Given the description of an element on the screen output the (x, y) to click on. 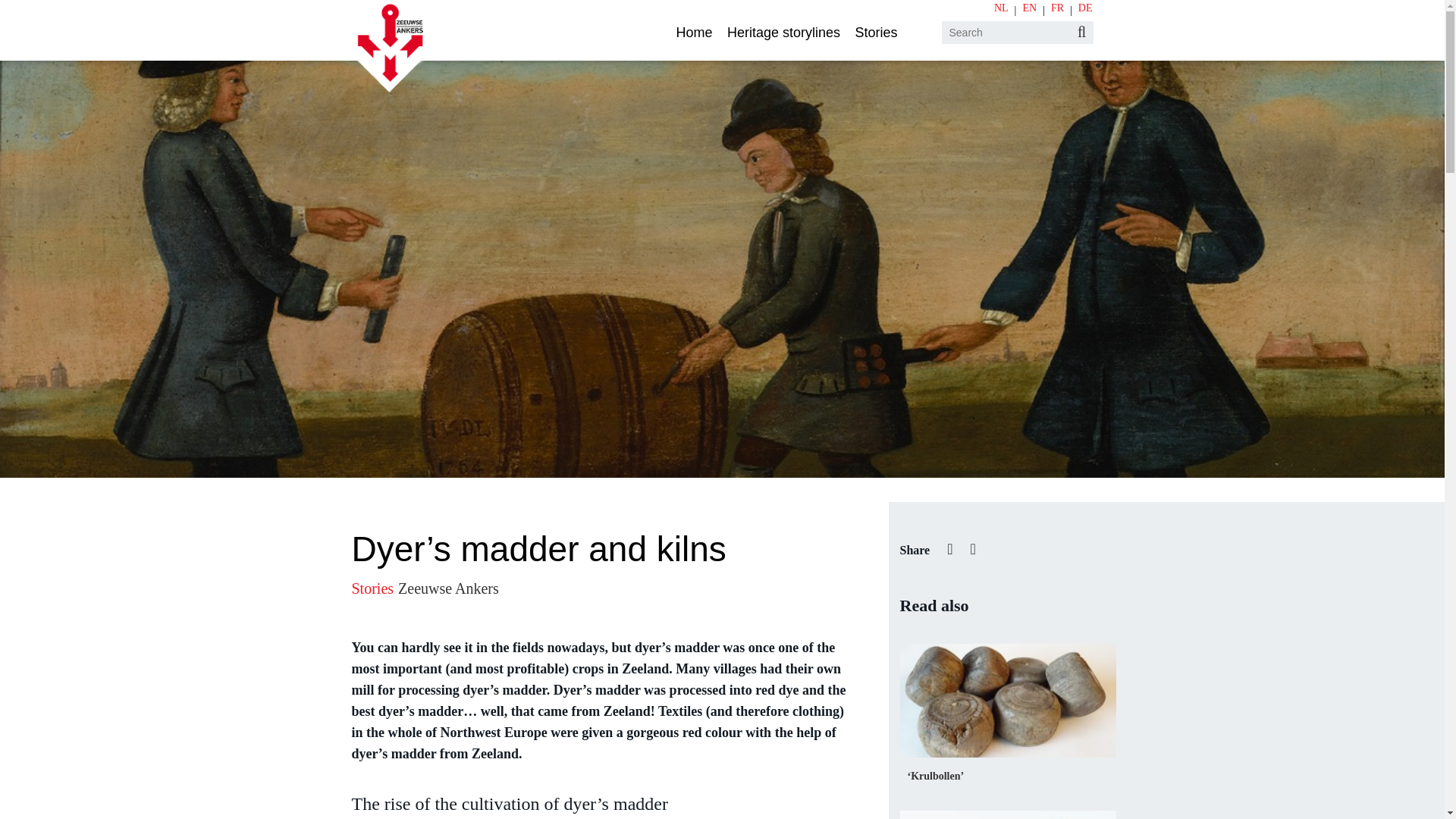
FR (1057, 10)
Zeeuwse Ankers (448, 588)
EN (1029, 10)
DE (1082, 10)
NL (1001, 10)
Stories (875, 32)
Heritage storylines (783, 32)
Home (693, 32)
